Given the description of an element on the screen output the (x, y) to click on. 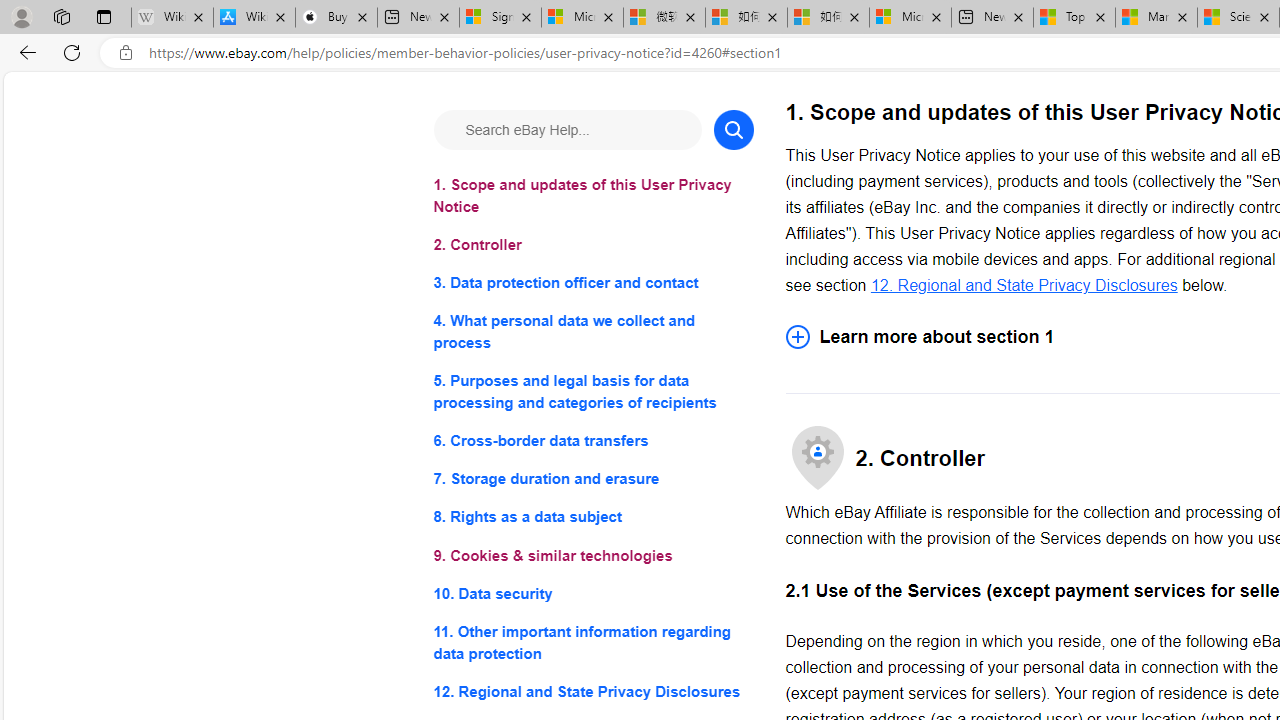
12. Regional and State Privacy Disclosures (592, 690)
9. Cookies & similar technologies (592, 555)
10. Data security (592, 592)
2. Controller (592, 245)
8. Rights as a data subject (592, 517)
Wikipedia - Sleeping (171, 17)
9. Cookies & similar technologies (592, 555)
1. Scope and updates of this User Privacy Notice (592, 196)
6. Cross-border data transfers (592, 440)
